Given the description of an element on the screen output the (x, y) to click on. 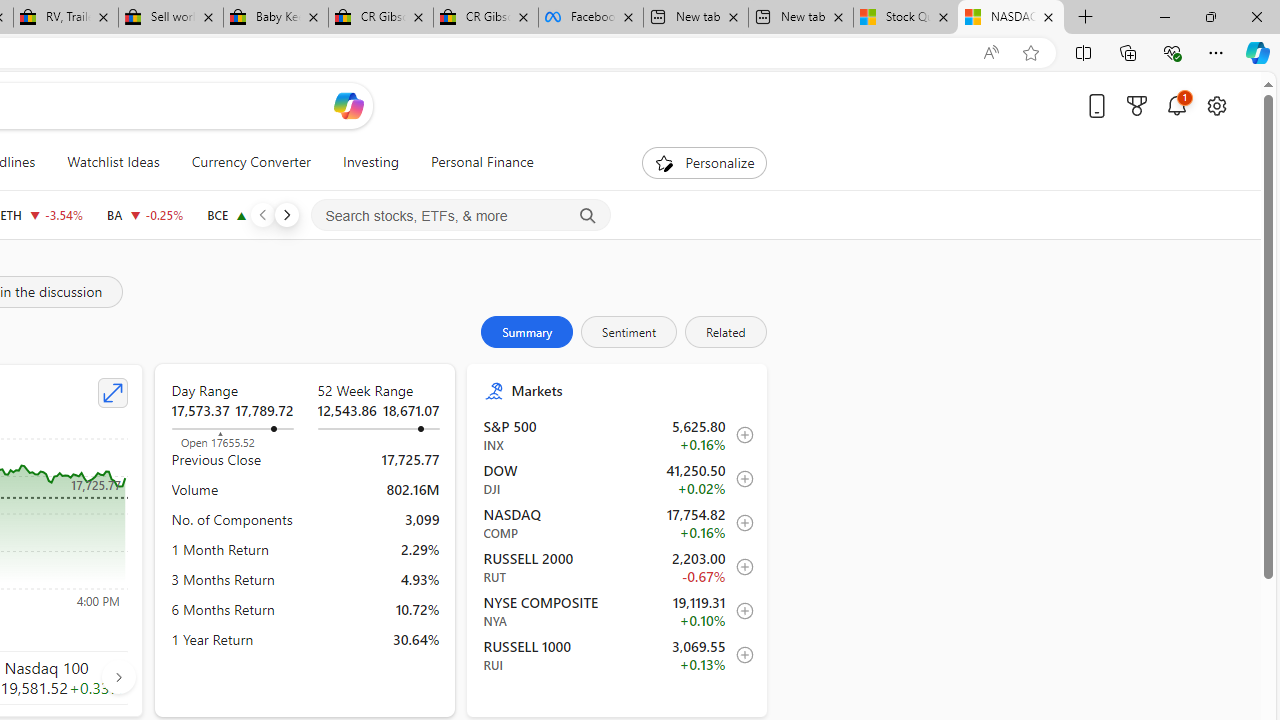
Open Copilot (347, 105)
Microsoft rewards (1137, 105)
Markets (630, 390)
Class: notInWatclistIcon-DS-EntryPoint1-5 lightTheme (739, 655)
DJI DOW increase 41,250.50 +9.98 +0.02% itemundefined (617, 479)
Investing (370, 162)
Search stocks, ETFs, & more (461, 215)
Open settings (1216, 105)
BA THE BOEING COMPANY decrease 173.05 -0.43 -0.25% (144, 214)
